Given the description of an element on the screen output the (x, y) to click on. 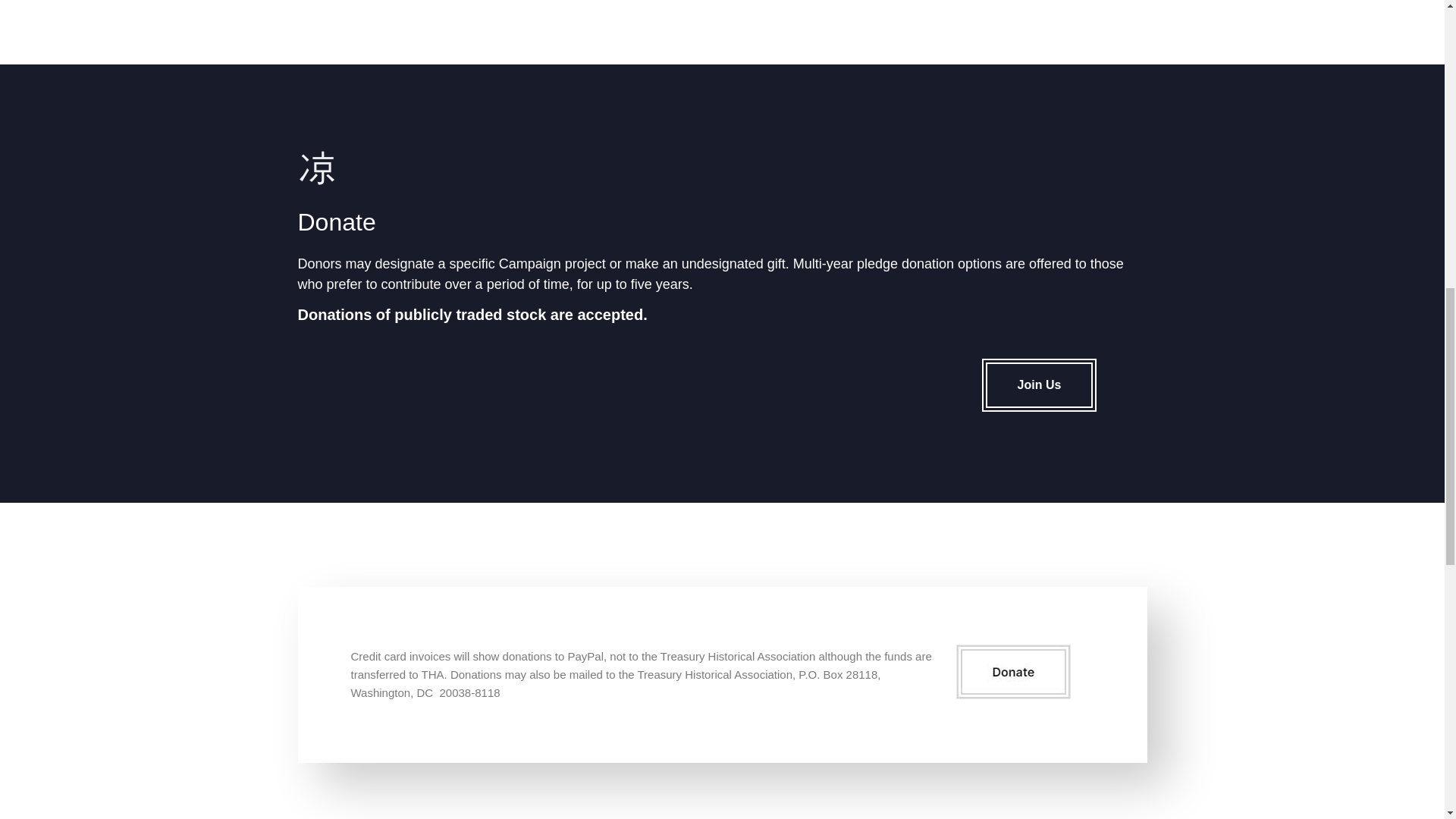
PayPal - The safer, easier way to pay online! (1013, 671)
Join Us (1039, 384)
